Given the description of an element on the screen output the (x, y) to click on. 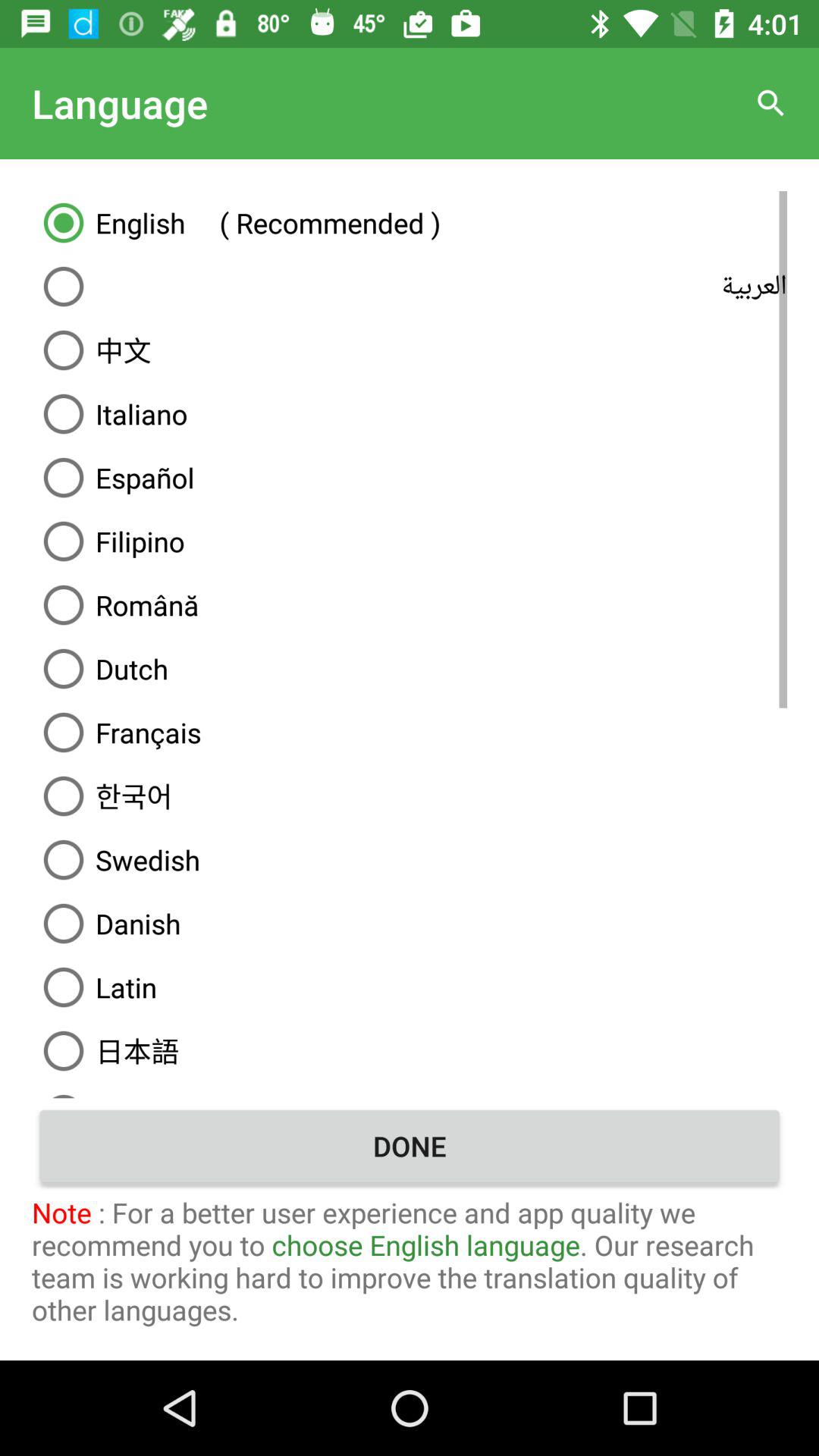
choose icon to the right of the language item (771, 103)
